Given the description of an element on the screen output the (x, y) to click on. 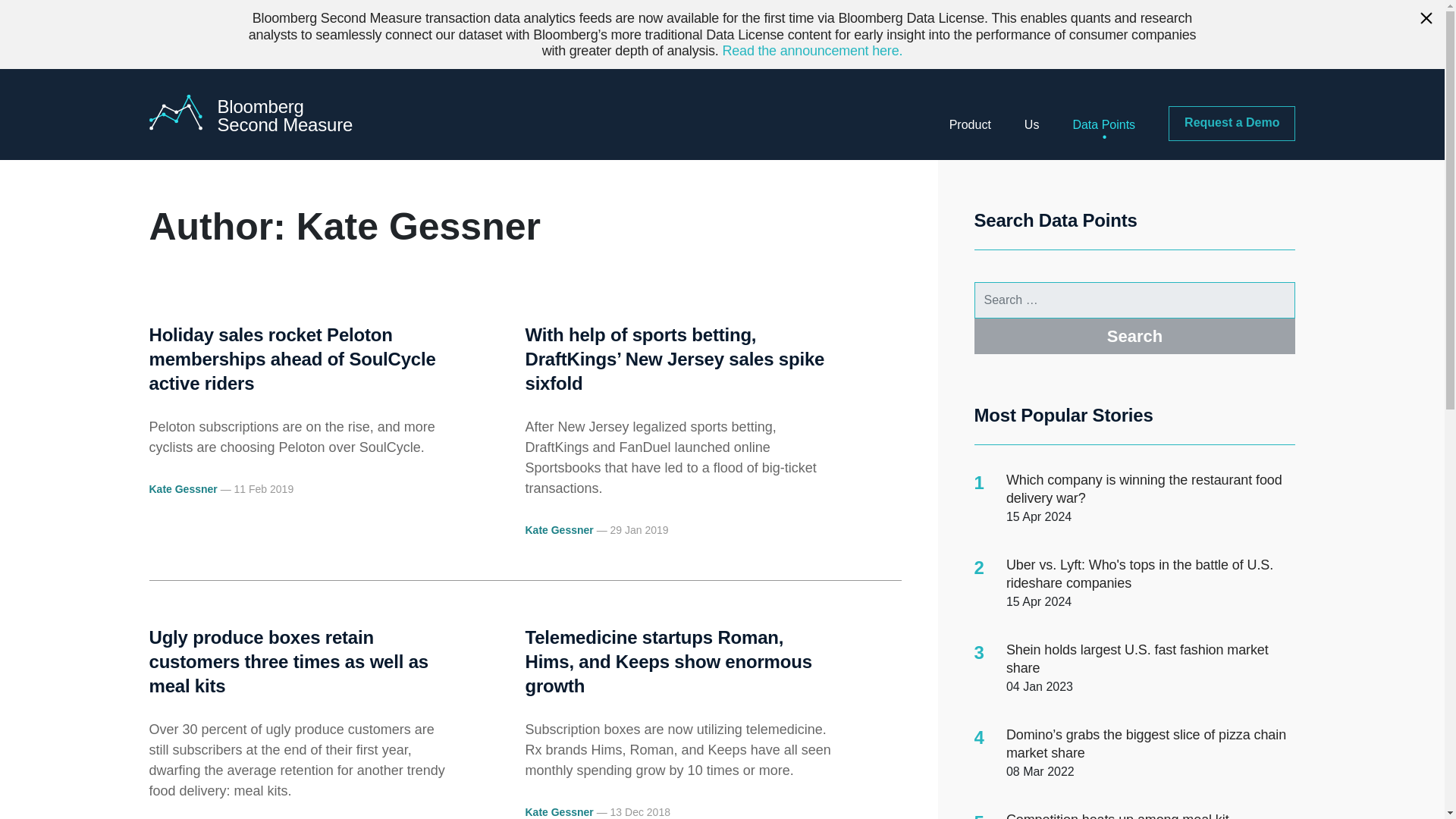
Request a Demo (1232, 123)
Data Points (1103, 124)
Search (1134, 335)
Us (1032, 124)
Search (1134, 335)
Kate Gessner (182, 489)
Product (970, 124)
Read the announcement here. (812, 50)
Dismiss announcement (1426, 19)
Which company is winning the restaurant food delivery war? (1144, 489)
Kate Gessner (277, 114)
